Given the description of an element on the screen output the (x, y) to click on. 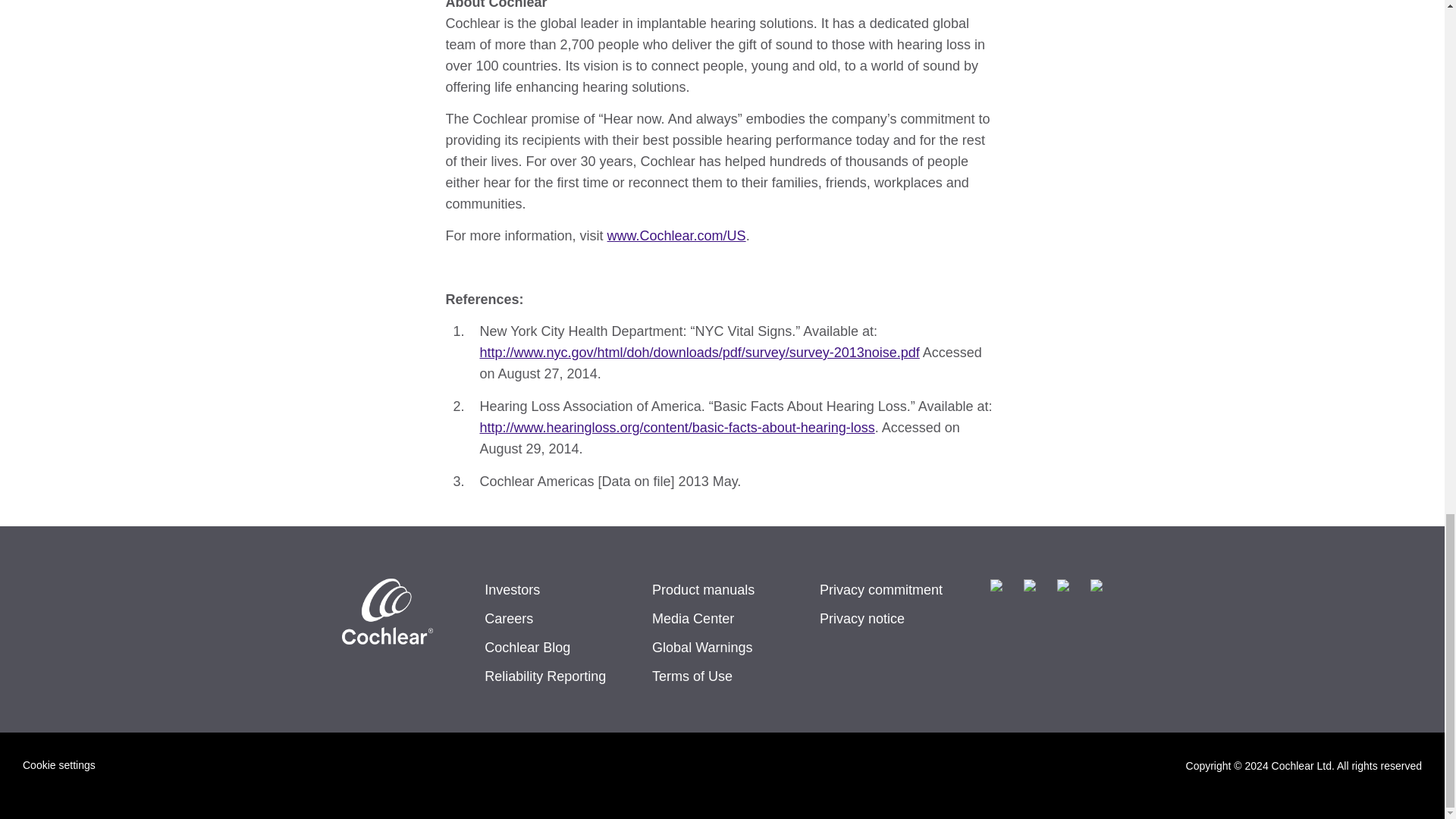
Cochlear Blog (554, 647)
Careers (554, 618)
Talk to us on Instagram (1101, 590)
Reliability reporting (554, 676)
Cookie Settings (59, 764)
Talk to us on Youtube (1034, 590)
Talk to us on Twitter (1068, 590)
Talk to us on Facebook (1001, 590)
Investors (554, 589)
Global Warnings (722, 647)
Privacy (889, 618)
Reliability Reporting (554, 676)
Media Center (722, 618)
Product manuals (722, 589)
